Given the description of an element on the screen output the (x, y) to click on. 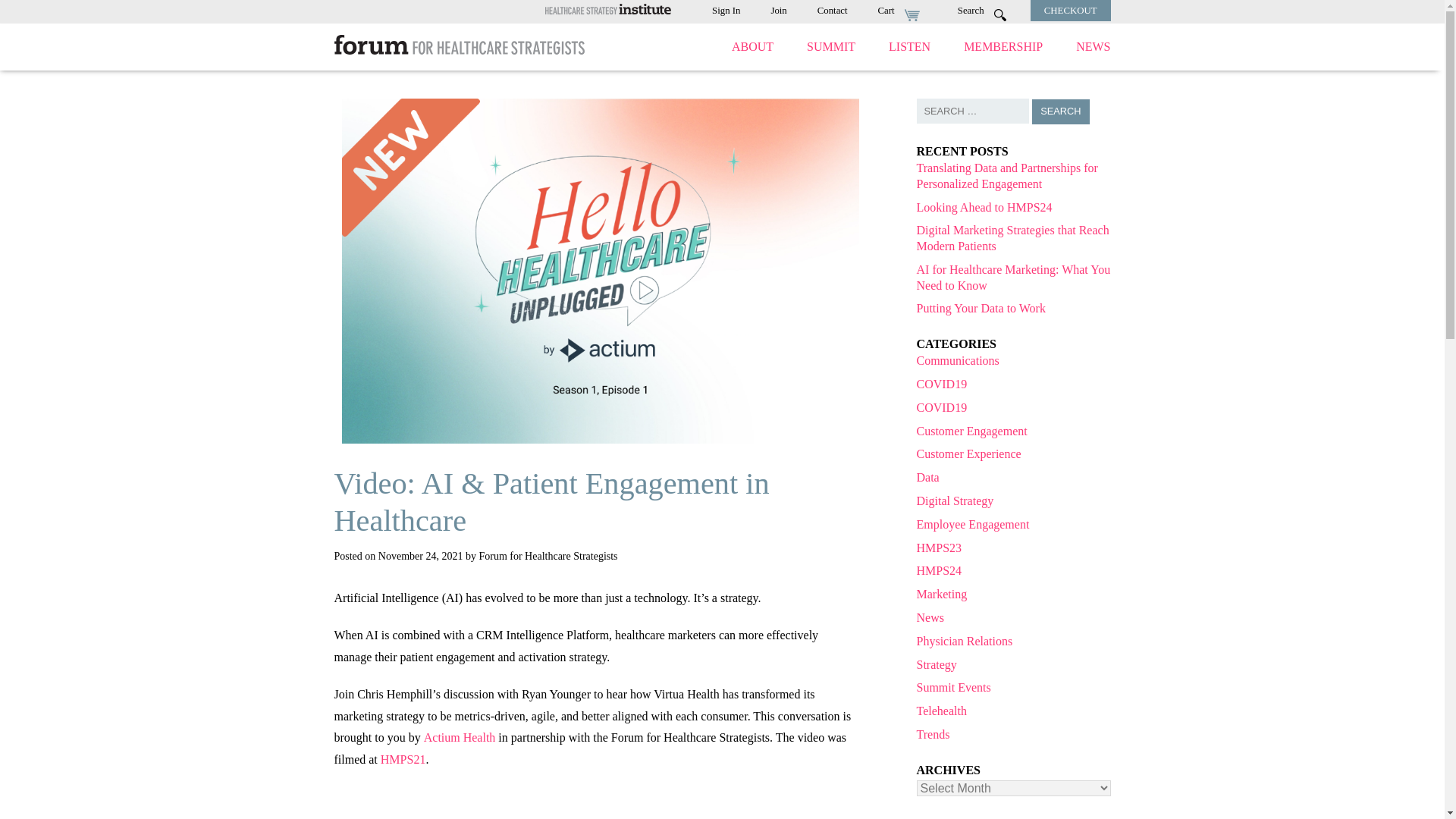
Sign In (725, 9)
LISTEN (909, 46)
Contact (831, 9)
Cart (902, 9)
MEMBERSHIP (1002, 46)
SUMMIT (831, 46)
ABOUT (752, 46)
Search (1059, 111)
Join (778, 9)
CHECKOUT (1070, 9)
Search (985, 9)
November 24, 2021 (420, 555)
NEWS (1092, 46)
Search (1059, 111)
